Given the description of an element on the screen output the (x, y) to click on. 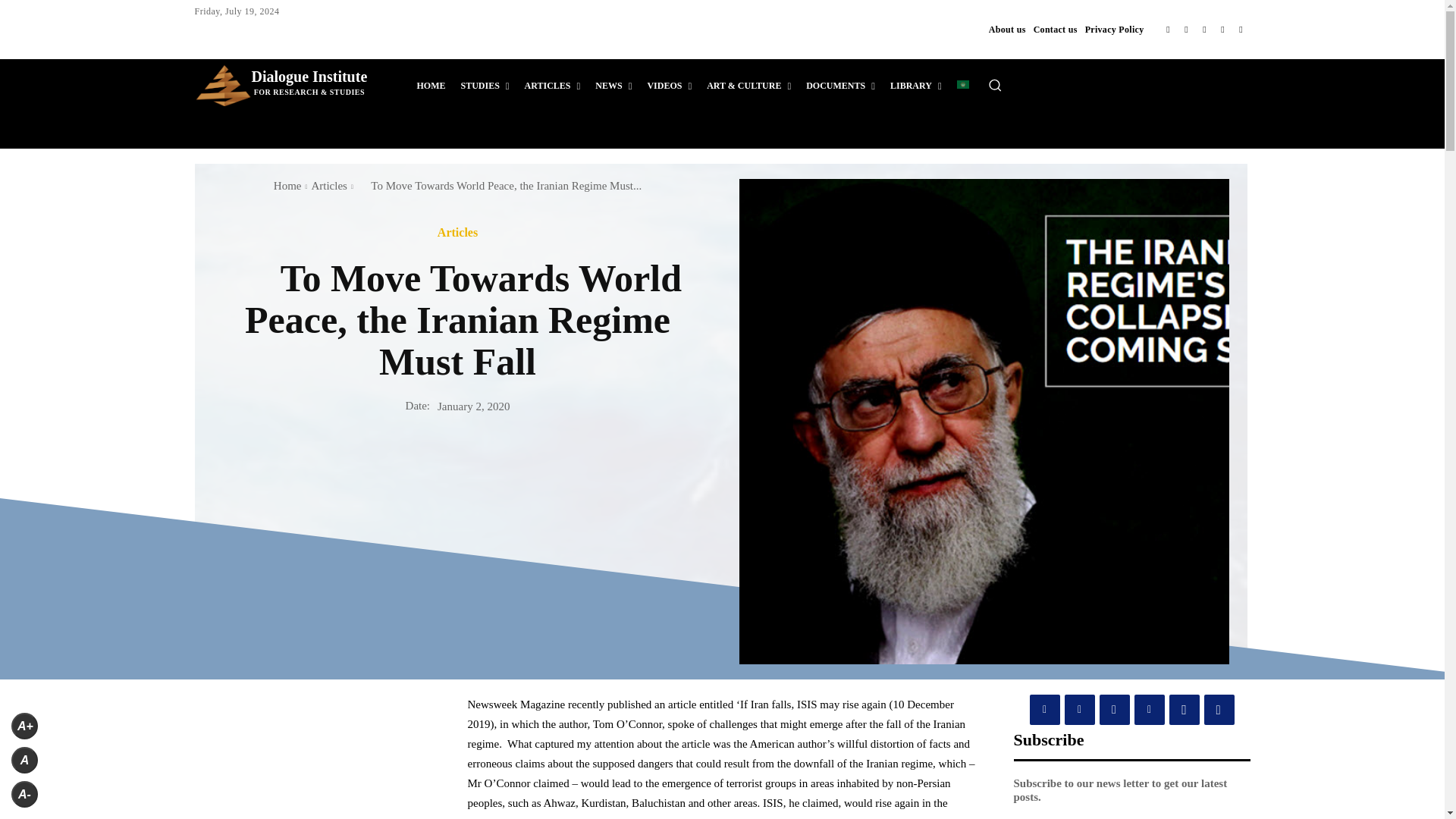
Facebook (1167, 29)
Privacy Policy (1114, 29)
About us (1007, 29)
Twitter (1221, 29)
Youtube (1240, 29)
Contact us (1055, 29)
Instagram (1185, 29)
STUDIES (484, 85)
Telegram (1203, 29)
